Given the description of an element on the screen output the (x, y) to click on. 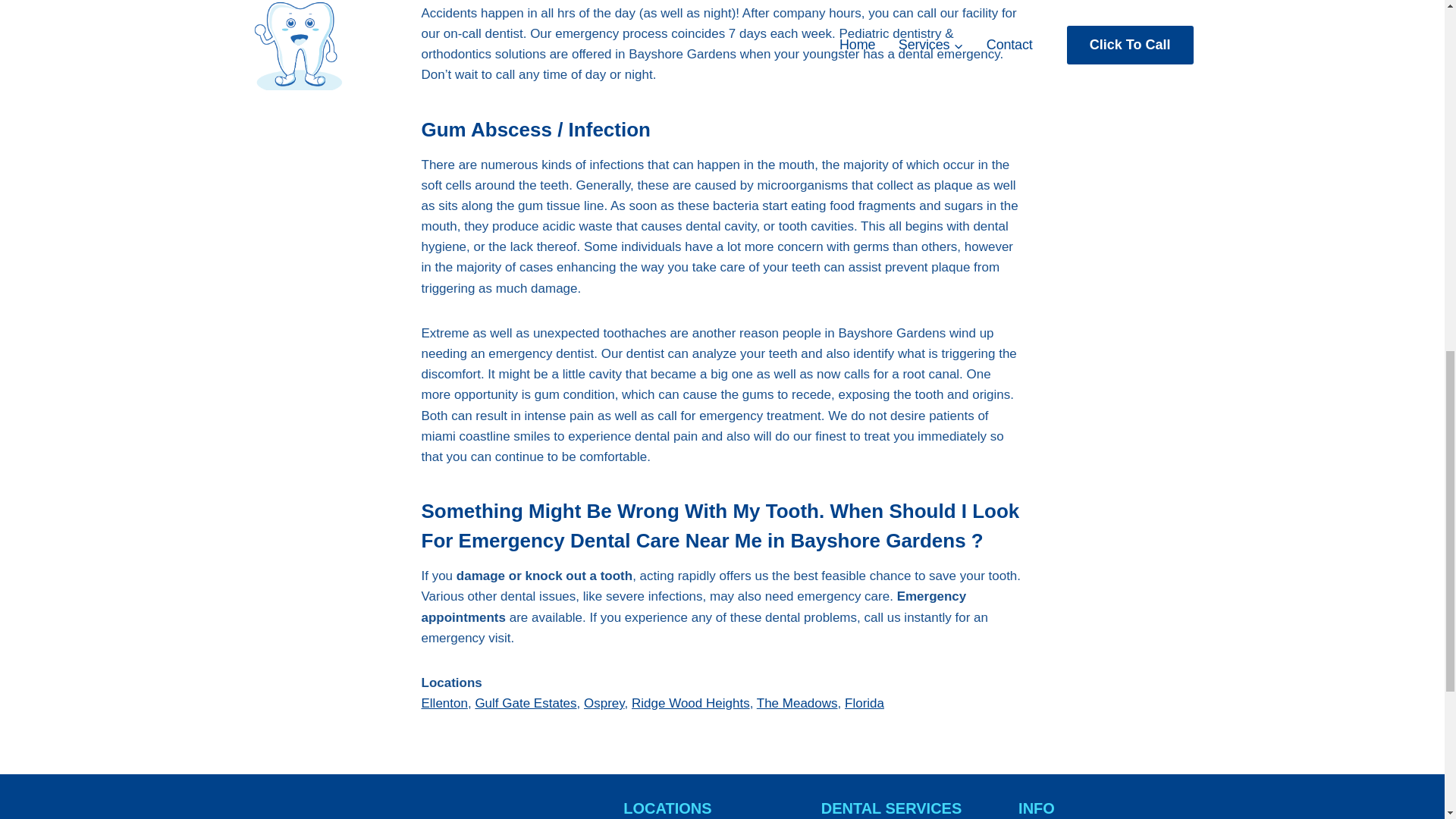
The Meadows (797, 703)
Osprey (603, 703)
Ellenton (444, 703)
Florida (863, 703)
Google map of Venice Florida (426, 807)
Ridge Wood Heights (690, 703)
Gulf Gate Estates (525, 703)
